Given the description of an element on the screen output the (x, y) to click on. 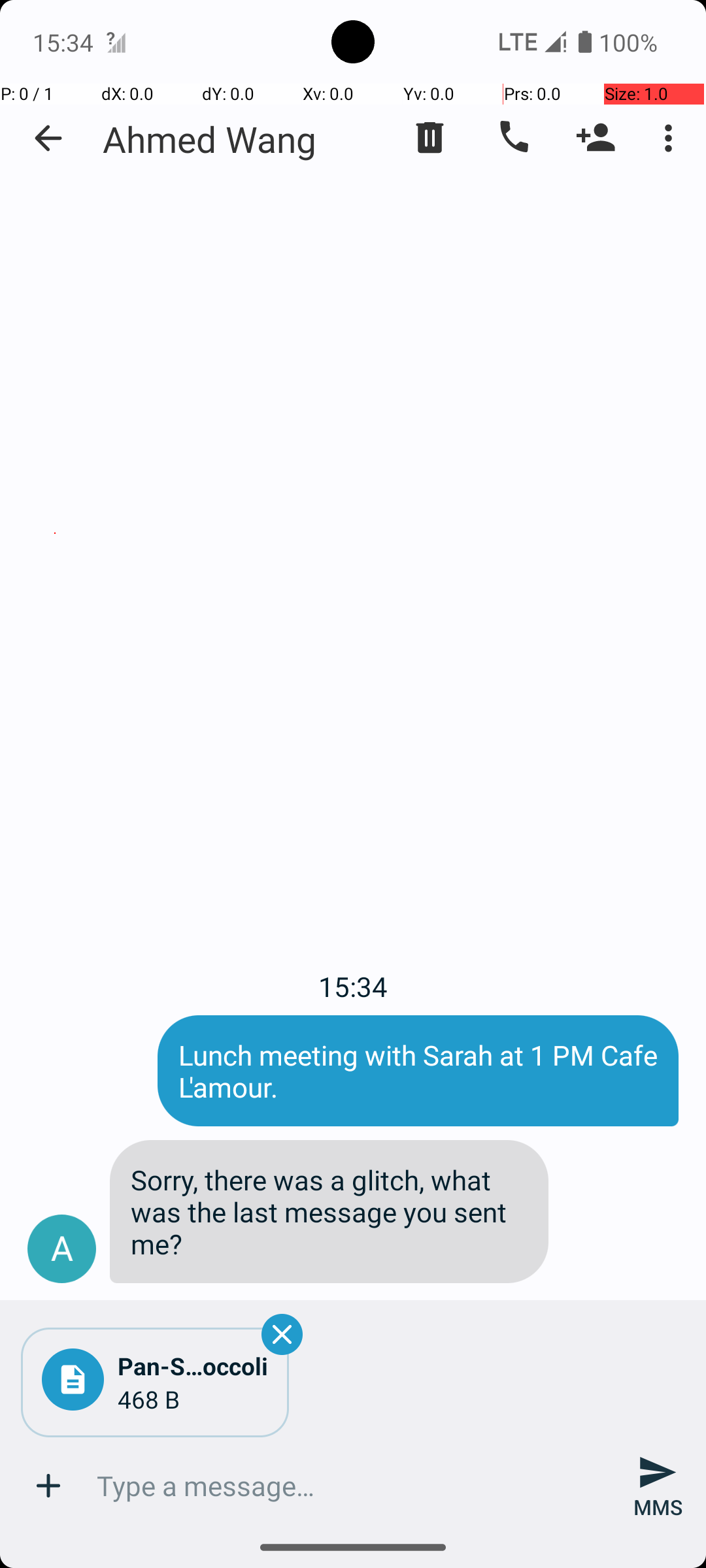
Ahmed Wang Element type: android.widget.TextView (209, 138)
MMS Element type: android.widget.Button (657, 1485)
Lunch meeting with Sarah at 1 PM Cafe L'amour. Element type: android.widget.TextView (417, 1070)
Pan-Seared_Salmon_with_Quinoa.broccoli Element type: android.widget.TextView (192, 1365)
468 B Element type: android.widget.TextView (192, 1398)
